Given the description of an element on the screen output the (x, y) to click on. 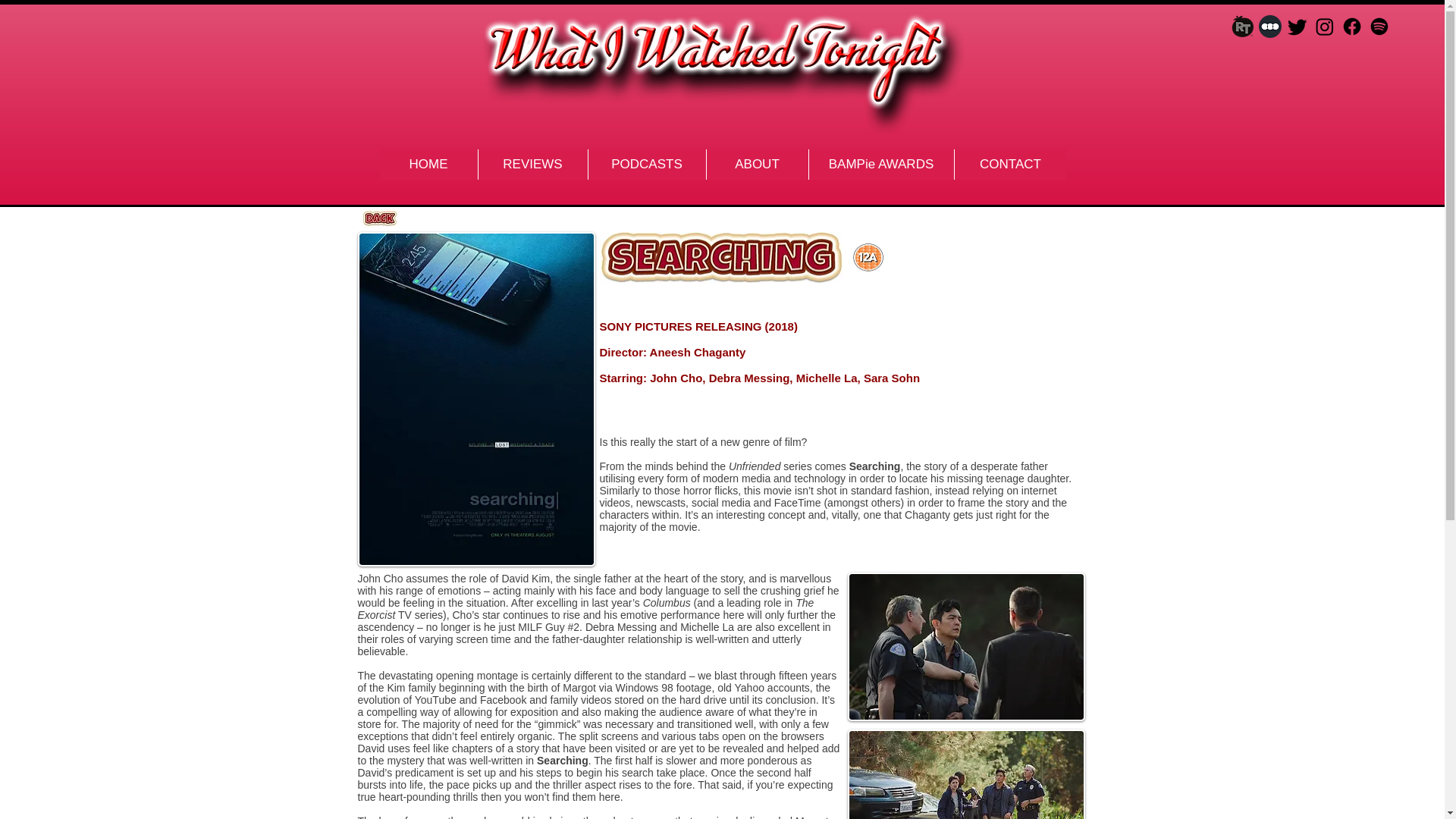
18.jpg (866, 257)
SEVEN.jpg (719, 257)
CONTACT (1010, 164)
HOME (427, 164)
BAMPie AWARDS (880, 164)
PODCASTS (645, 164)
ABOUT (756, 164)
REVIEWS (532, 164)
